Given the description of an element on the screen output the (x, y) to click on. 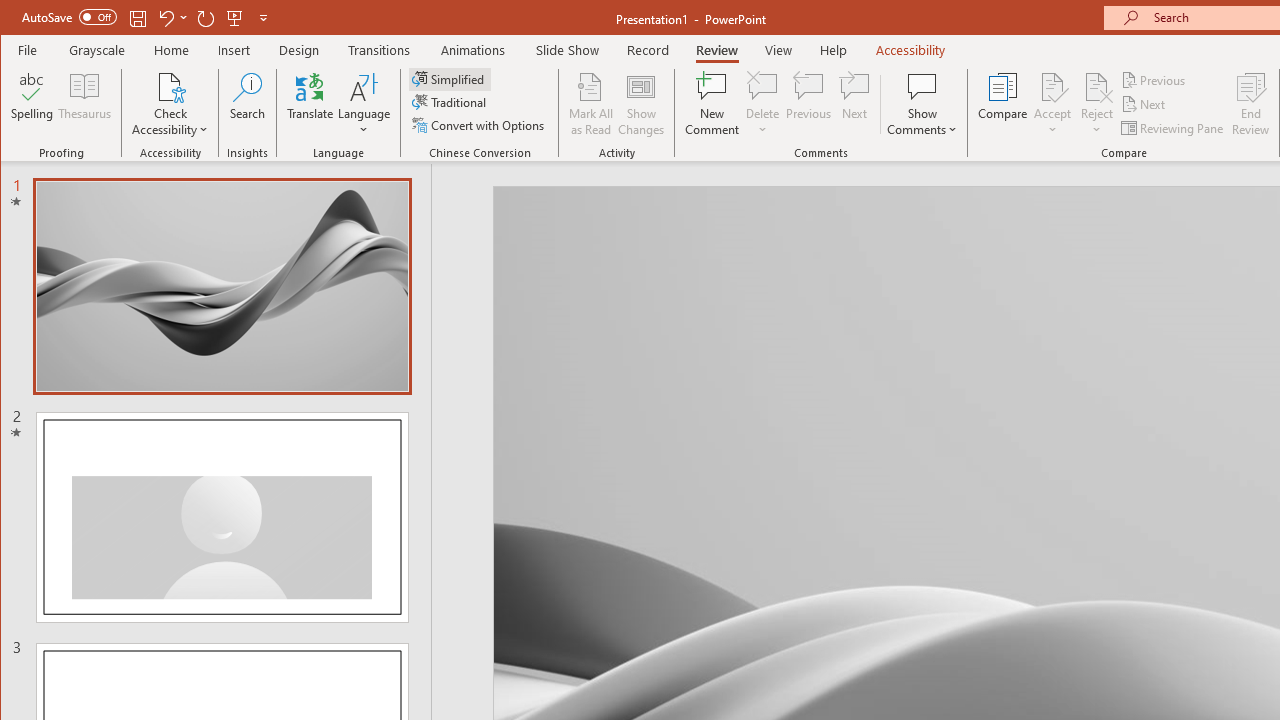
Reviewing Pane (1173, 127)
Reject Change (1096, 86)
